Given the description of an element on the screen output the (x, y) to click on. 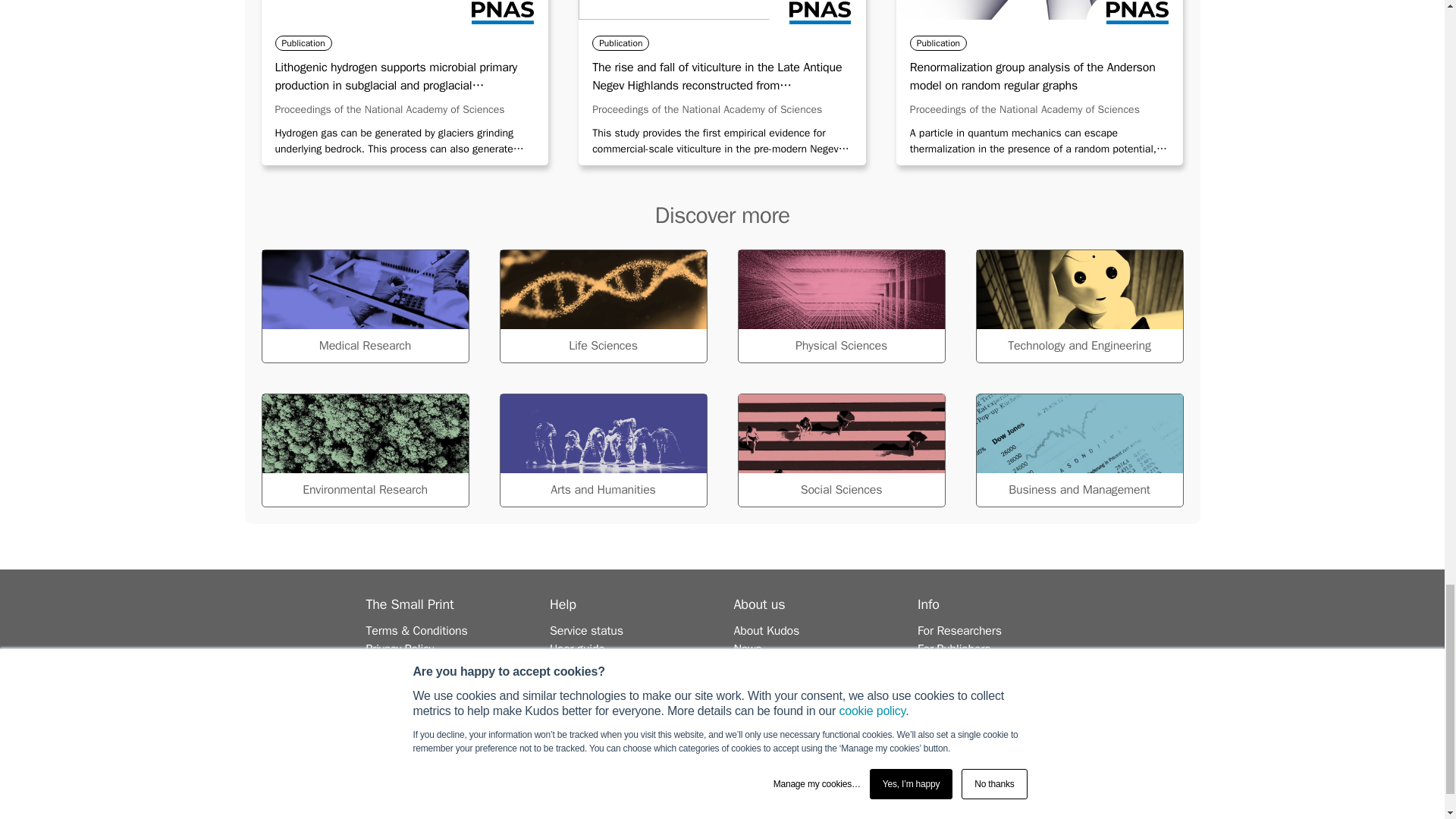
Proceedings of the National Academy of Sciences (1025, 109)
Social Sciences (840, 449)
Technology and Engineering (1078, 306)
Proceedings of the National Academy of Sciences (707, 109)
Environmental Research (364, 449)
Logo Usage (395, 667)
Medical Research (364, 306)
Life Sciences (602, 306)
